Given the description of an element on the screen output the (x, y) to click on. 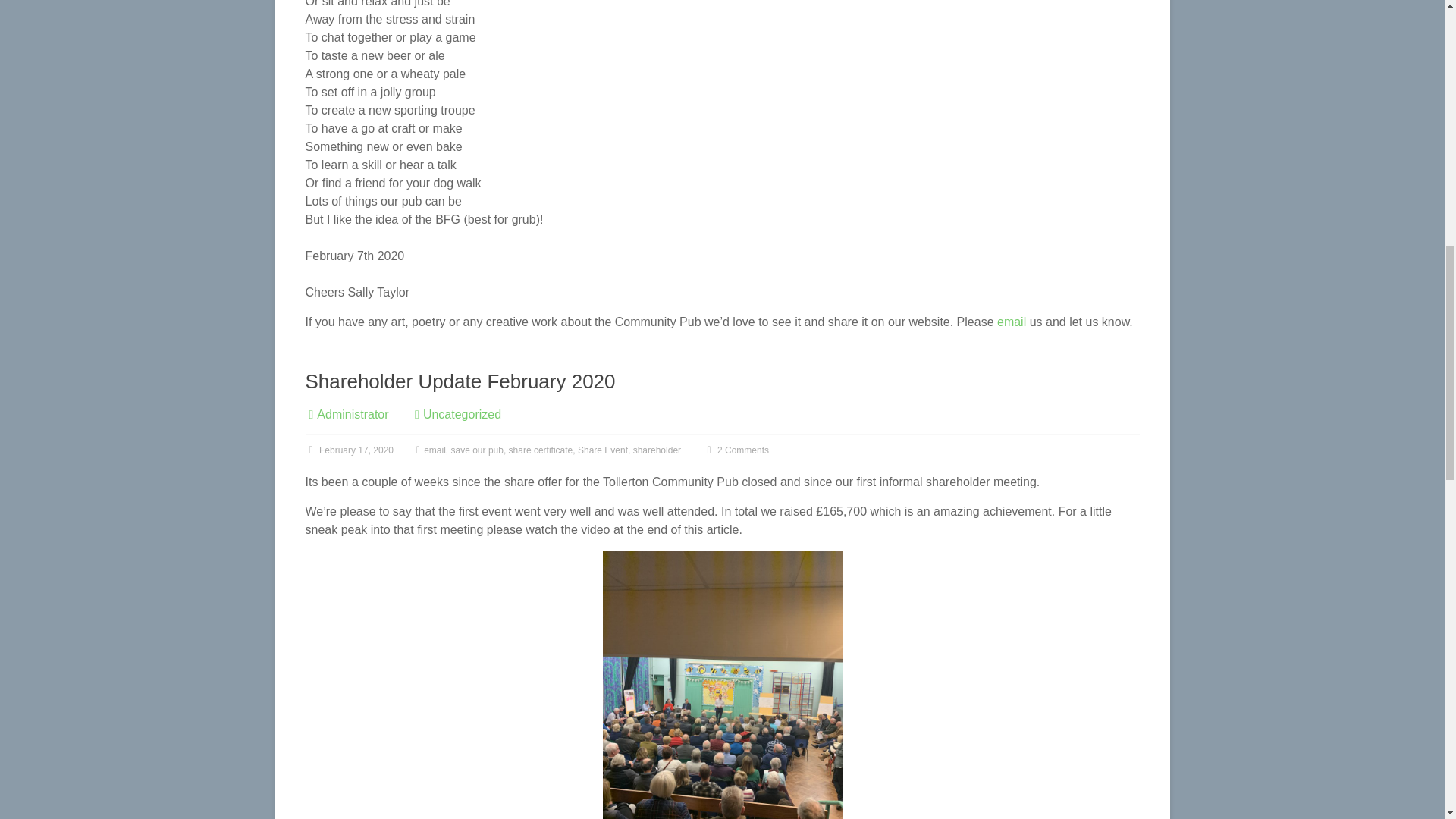
Administrator (352, 413)
2:59 pm (348, 450)
Shareholder Update February 2020 (459, 381)
